Given the description of an element on the screen output the (x, y) to click on. 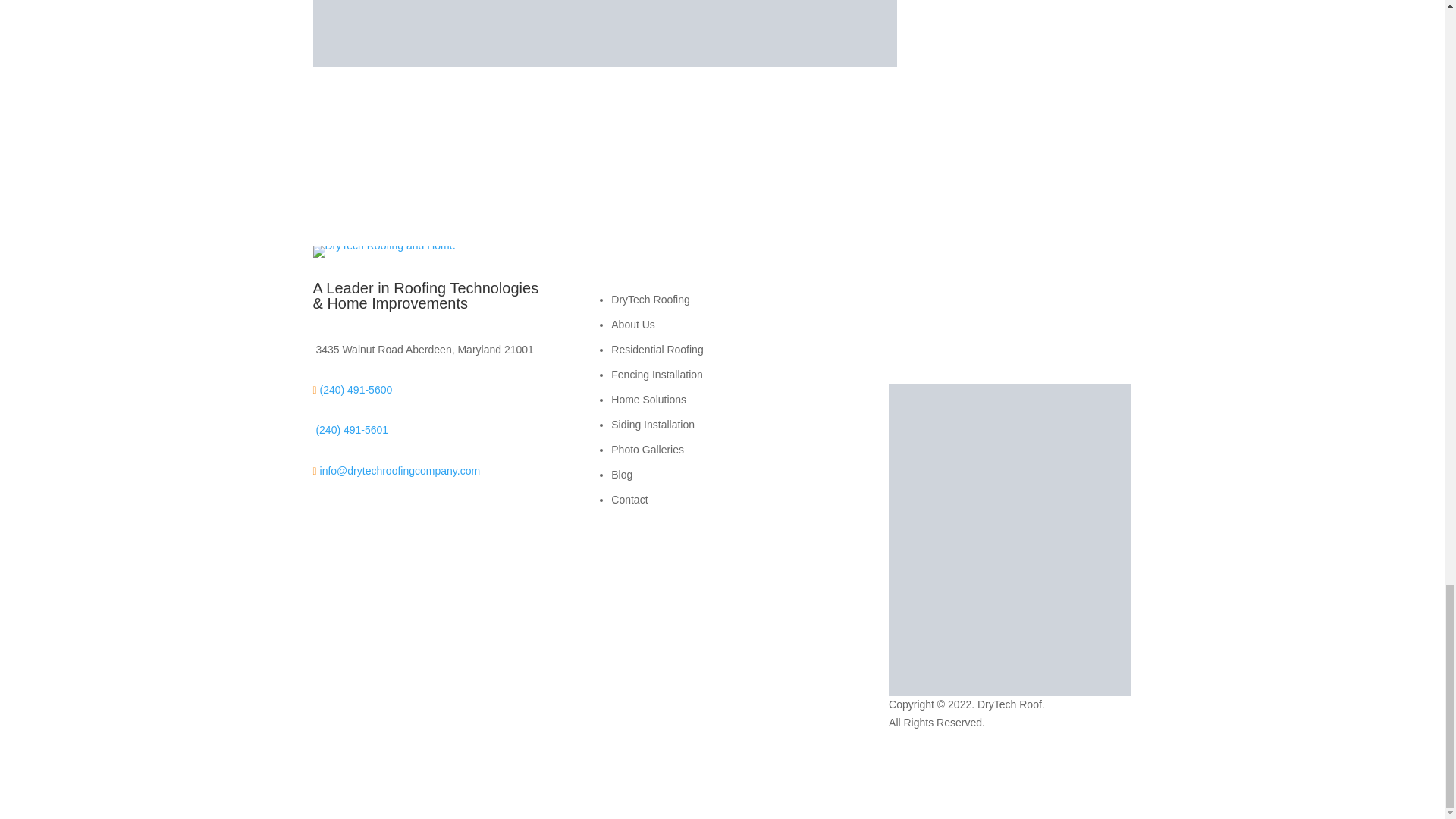
Follow on X (961, 301)
Follow on Facebook (900, 301)
DryTechLogo-Short (383, 251)
Follow on Youtube (930, 301)
9NINER-trans (1009, 540)
Follow on google-plus (991, 301)
Follow on Instagram (1021, 301)
